Given the description of an element on the screen output the (x, y) to click on. 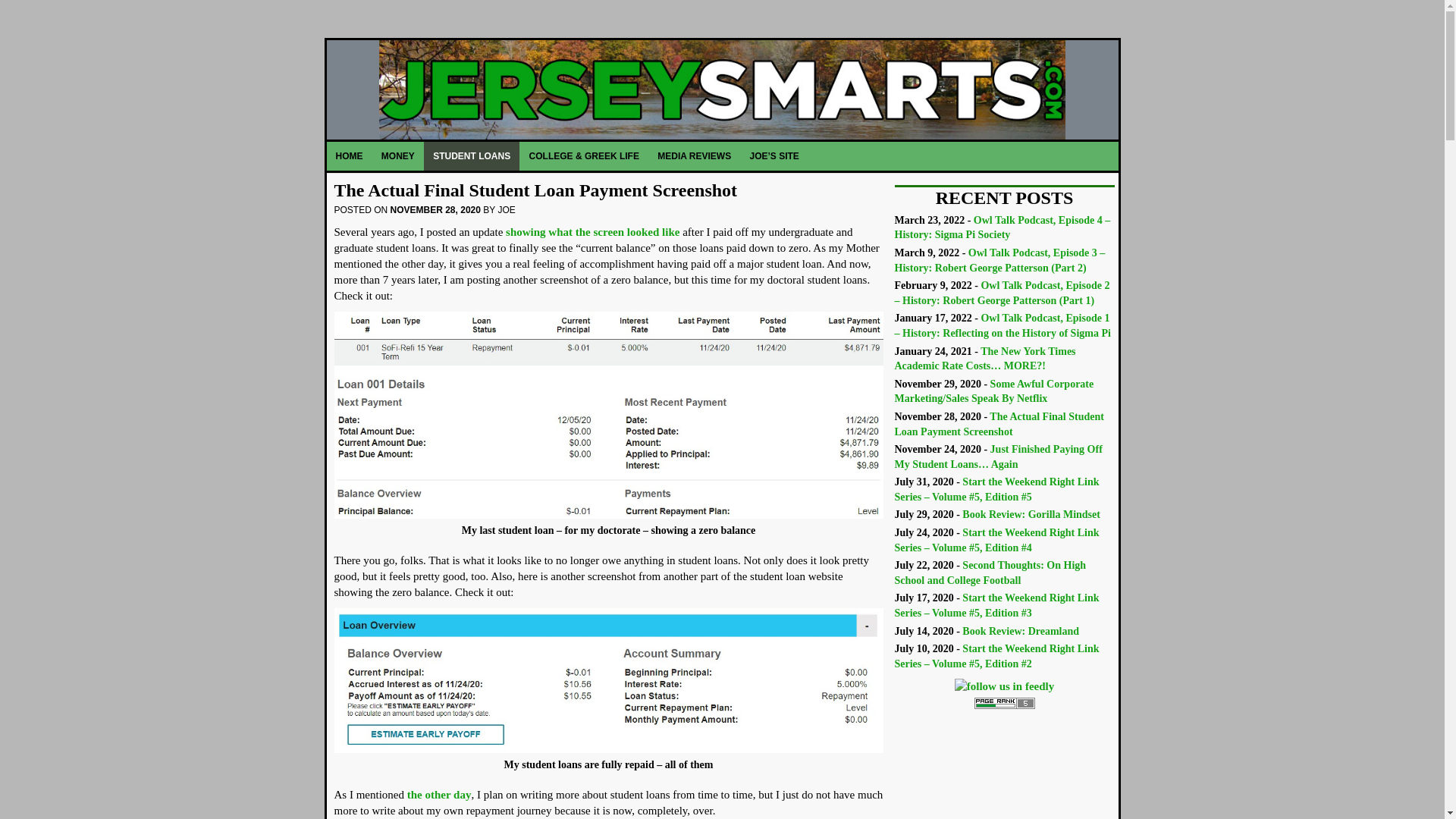
the other day (439, 794)
showing what the screen looked like (592, 232)
November 28, 2020 (999, 424)
July 24, 2020 (997, 540)
July 22, 2020 (990, 572)
July 29, 2020 (1031, 514)
JERSEYSMARTS.COM (722, 89)
MONEY (398, 155)
January 17, 2022 (1002, 325)
MEDIA REVIEWS (694, 155)
The Actual Final Student Loan Payment Screenshot (534, 189)
July 17, 2020 (997, 605)
July 31, 2020 (997, 488)
November 29, 2020 (994, 391)
November 24, 2020 (998, 456)
